Given the description of an element on the screen output the (x, y) to click on. 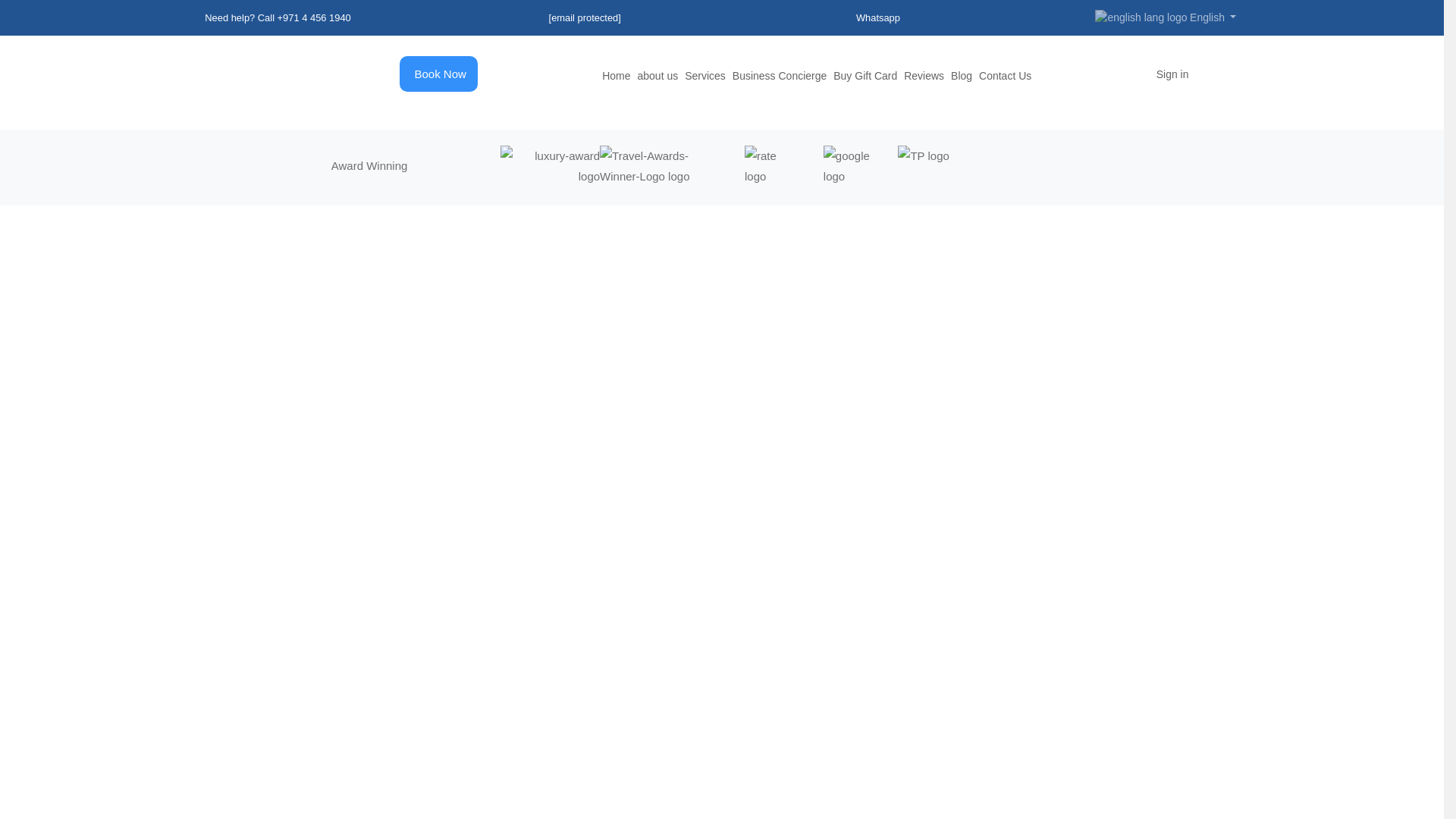
English (1165, 17)
Blog (961, 75)
about us (657, 75)
Contact Us (1004, 75)
Business Concierge (779, 75)
Reviews (923, 75)
Whatsapp (877, 17)
Buy Gift Card (864, 75)
Home (616, 75)
Services (704, 75)
